Given the description of an element on the screen output the (x, y) to click on. 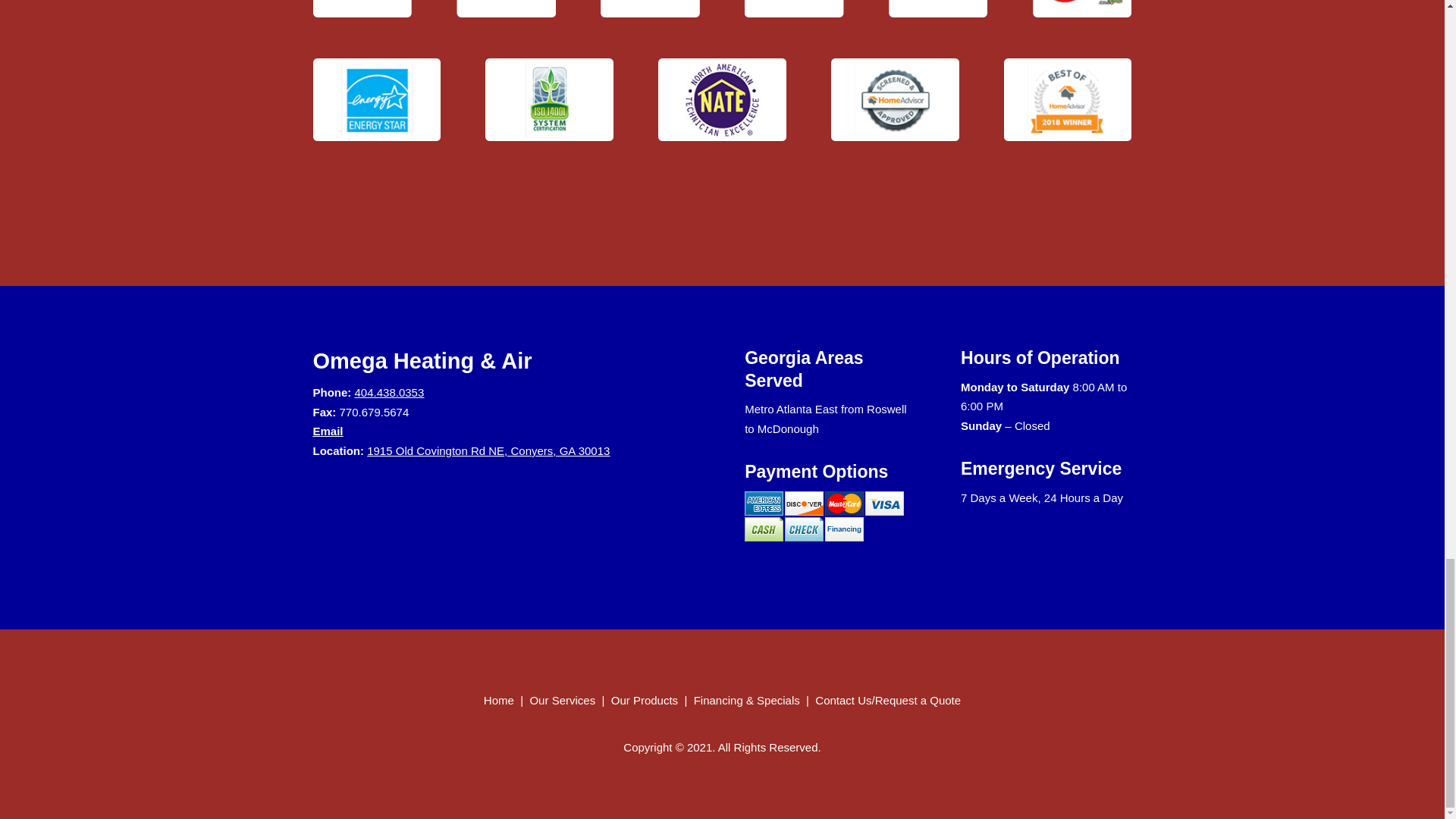
ComfortNet Control System Logo  (361, 9)
Lennox International logo (937, 9)
Conyers, GA 30013 (560, 450)
ISO 14001 System Certification (548, 99)
Carrier Global logo (648, 9)
Rheem Manufacturing Company logo (1081, 9)
Daikin Air Conditioning logo (505, 9)
404.438.0353 (390, 391)
Energy Star logo (376, 99)
Email (327, 431)
Home  (499, 699)
1915 Old Covington Rd NE, (438, 450)
